Given the description of an element on the screen output the (x, y) to click on. 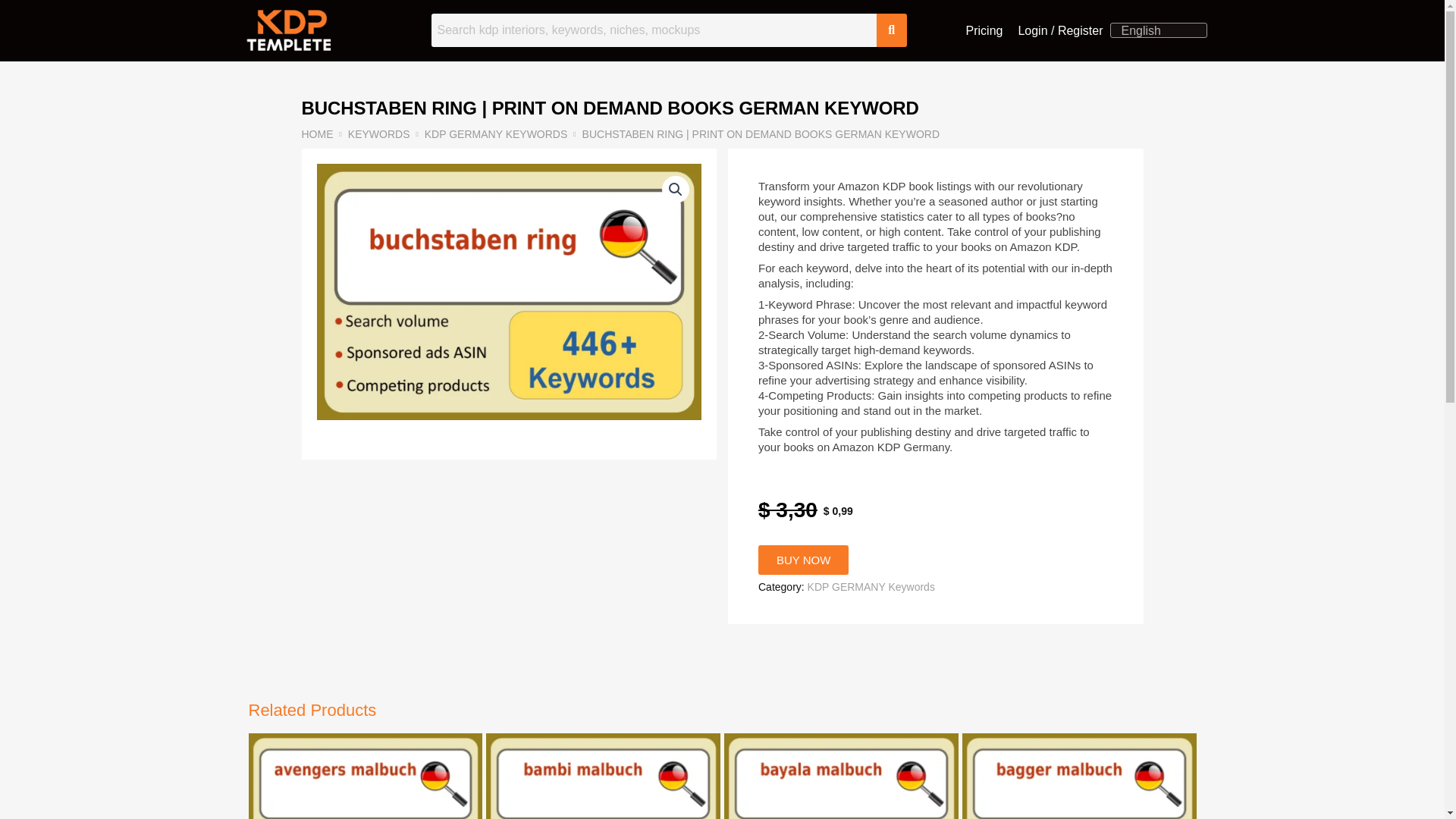
KDP GERMANY KEYWORDS (496, 133)
Pricing (984, 30)
buchstaben-ring (509, 291)
BUY NOW (803, 559)
KDP GERMANY Keywords (871, 586)
HOME (317, 133)
Search (653, 29)
KEYWORDS (378, 133)
